Given the description of an element on the screen output the (x, y) to click on. 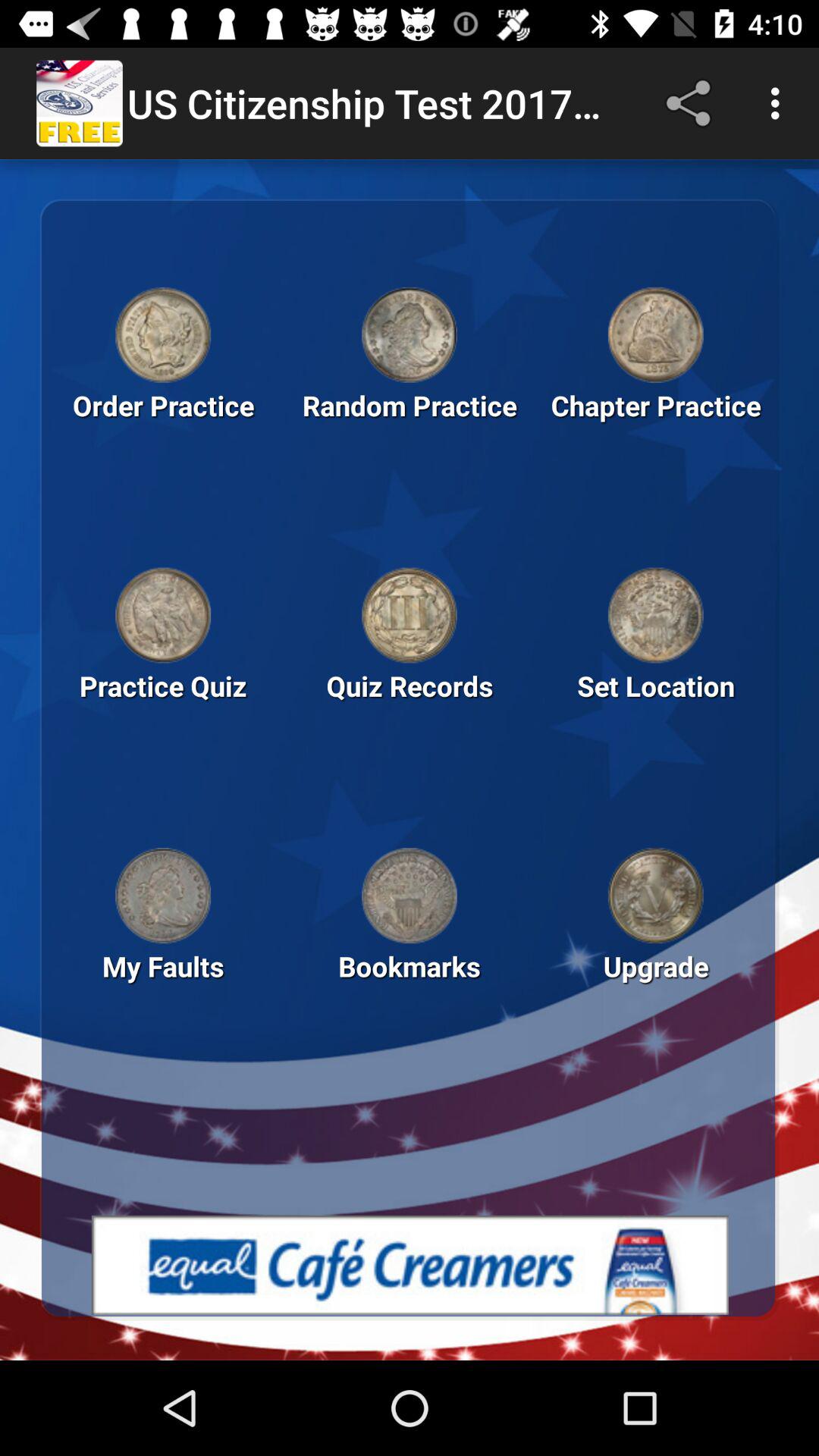
view information (655, 334)
